Given the description of an element on the screen output the (x, y) to click on. 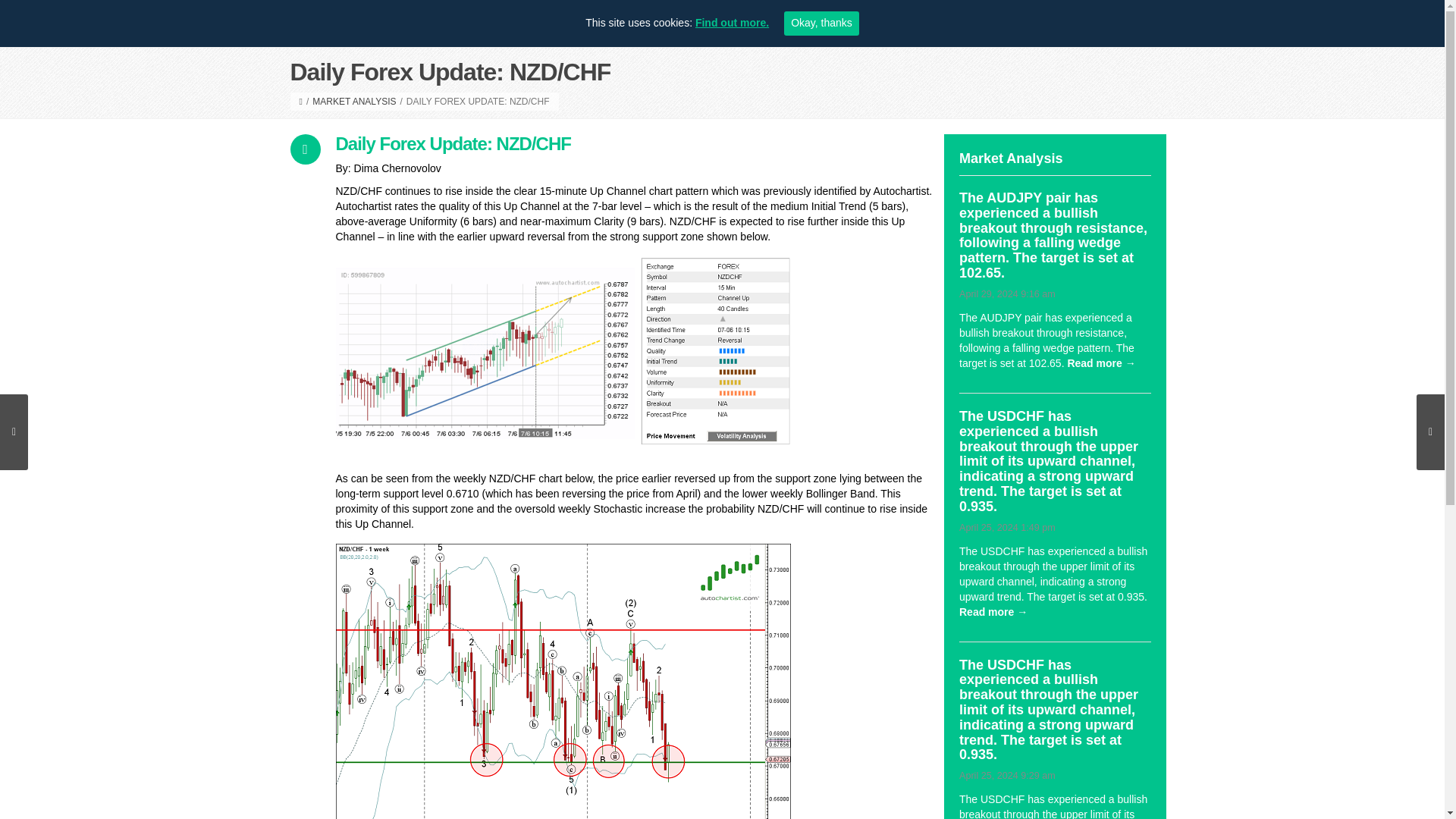
View all posts in Market Analysis (354, 101)
MARKET ANALYSIS (354, 101)
